Given the description of an element on the screen output the (x, y) to click on. 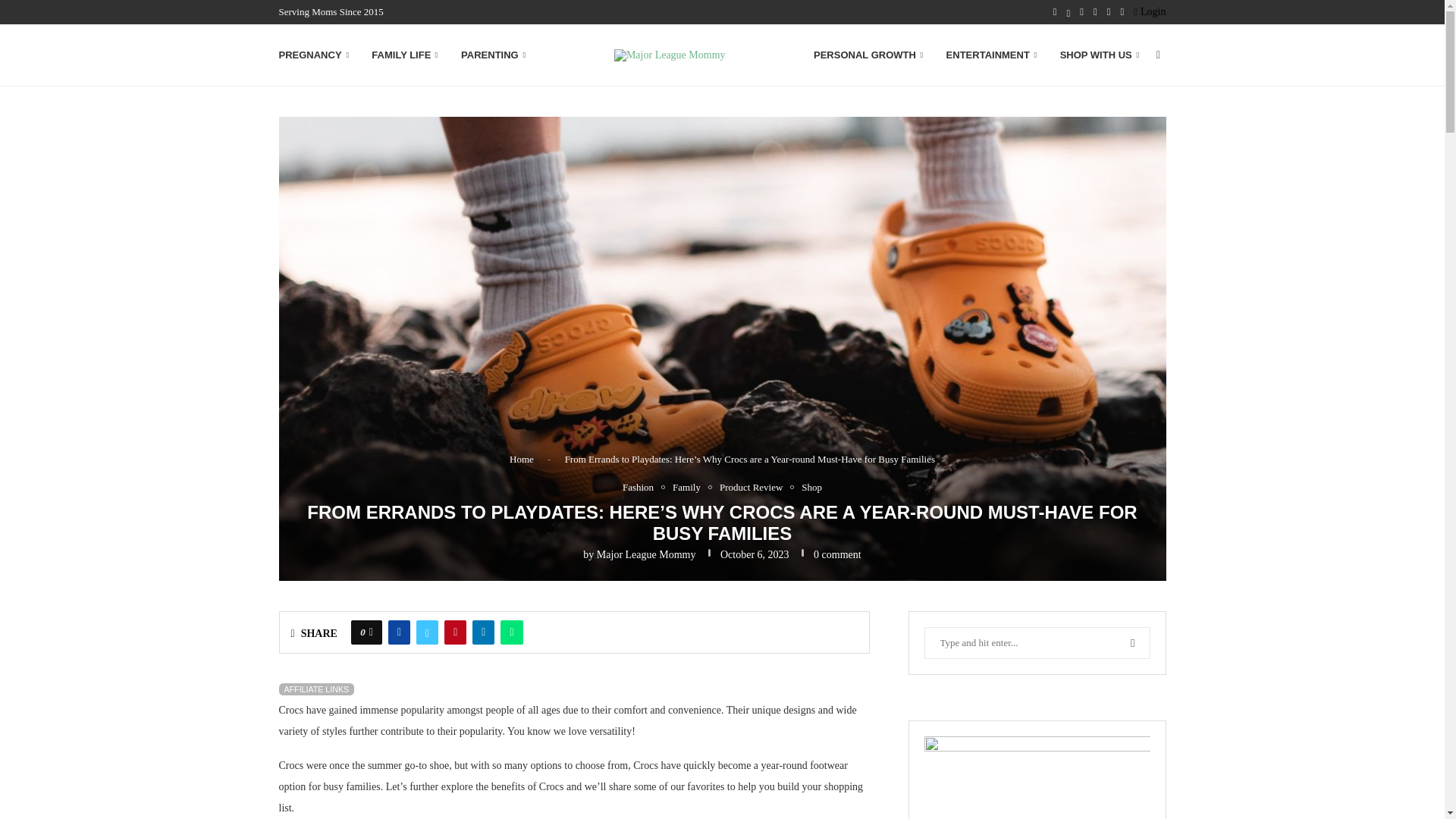
PERSONAL GROWTH (868, 55)
PREGNANCY (314, 55)
Major League Mommy (645, 554)
ENTERTAINMENT (991, 55)
SHOP WITH US (1099, 55)
FAMILY LIFE (404, 55)
PARENTING (493, 55)
Login (1150, 12)
